Given the description of an element on the screen output the (x, y) to click on. 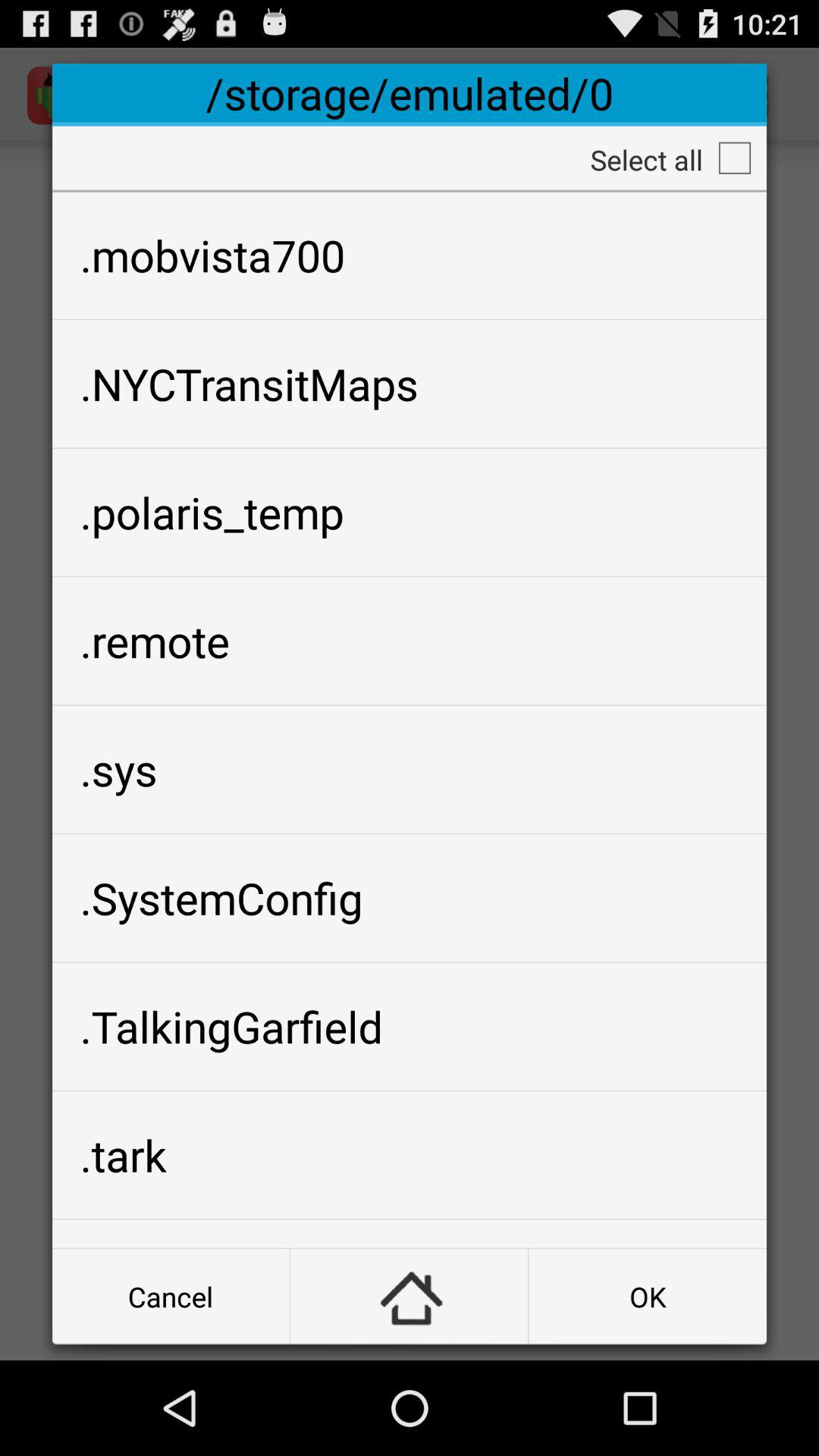
select the item above the .polaris_temp app (409, 383)
